Given the description of an element on the screen output the (x, y) to click on. 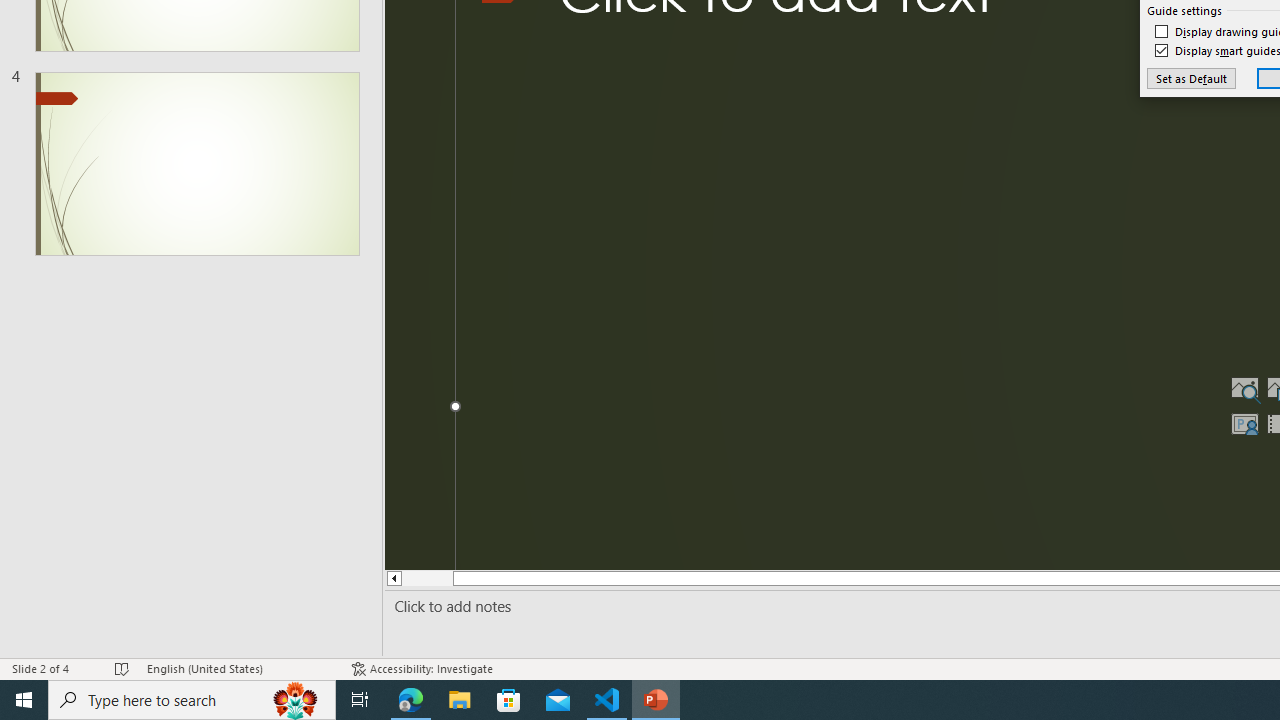
Set as Default (1190, 78)
